Given the description of an element on the screen output the (x, y) to click on. 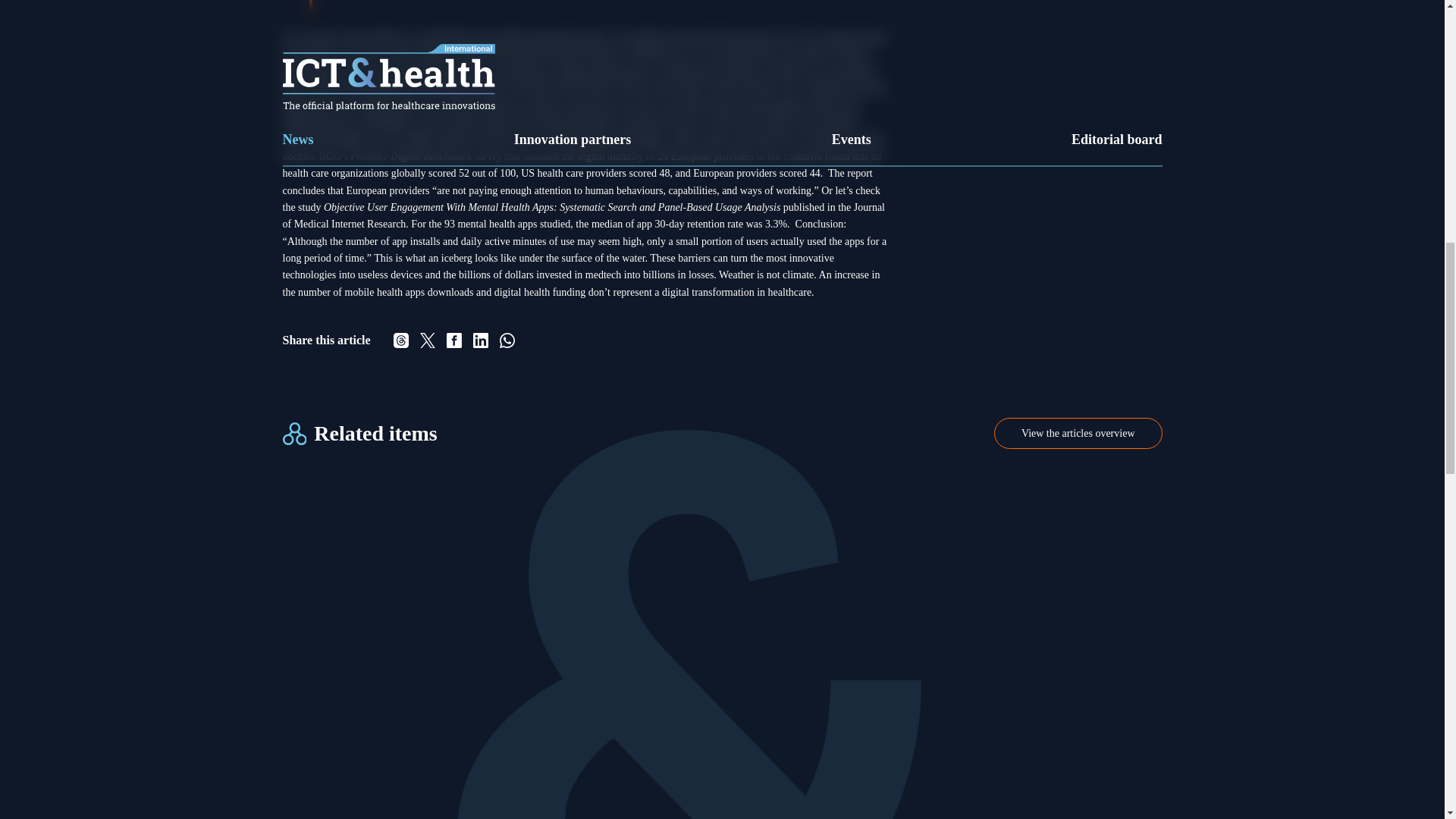
Share on X (427, 340)
Share on WhatsApp (507, 340)
Share on LinkedIn (480, 340)
Share this article (585, 340)
Share on Facebook (453, 340)
Share on Threads (401, 340)
View the articles overview (1077, 432)
